Given the description of an element on the screen output the (x, y) to click on. 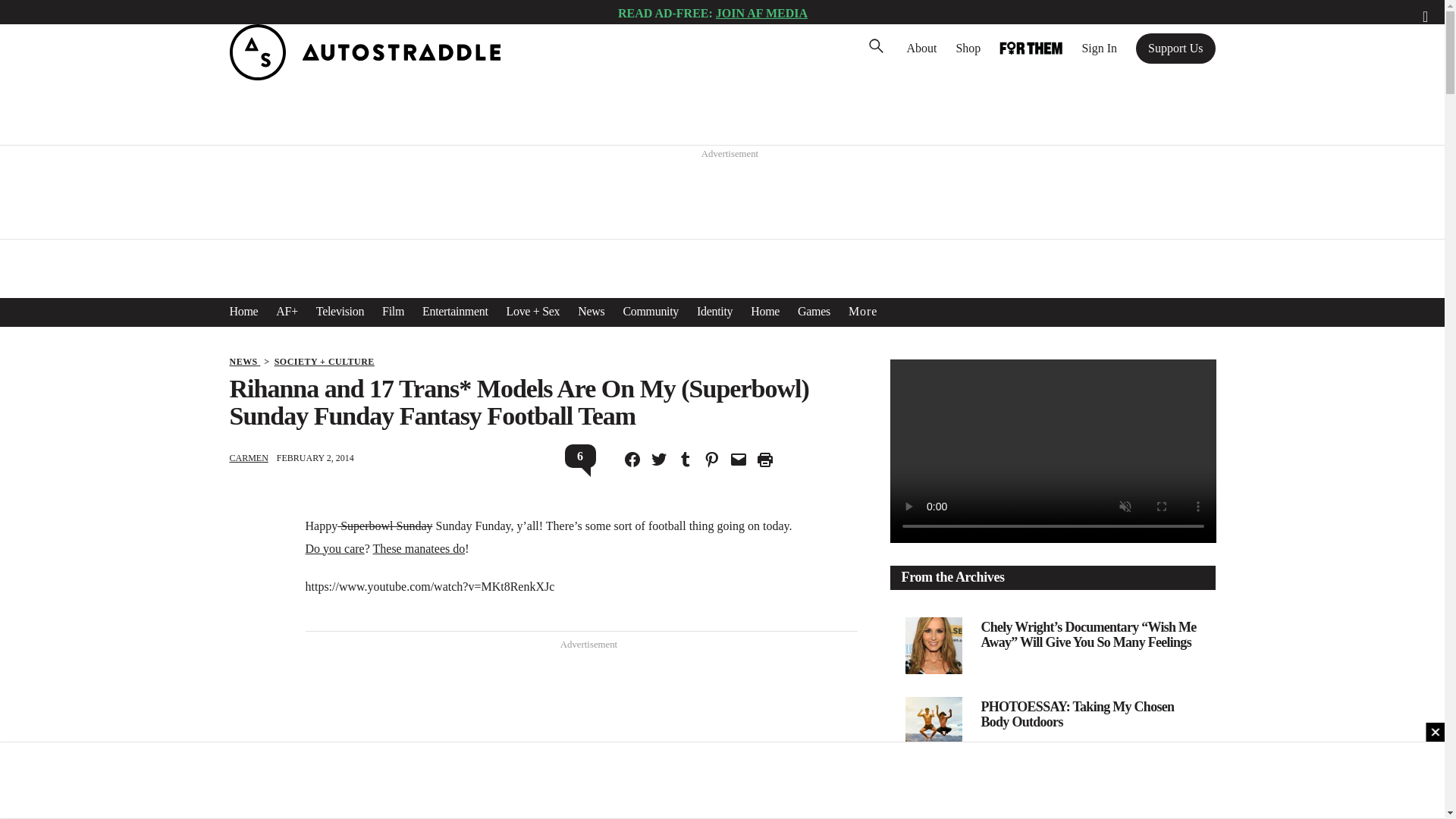
Search (34, 15)
Shop (967, 48)
Autostraddle (363, 75)
3rd party ad content (722, 196)
JOIN AF MEDIA (762, 12)
3rd party ad content (580, 738)
Posts by Carmen (247, 457)
Home (242, 311)
Sign In (1098, 48)
Television (339, 311)
